Given the description of an element on the screen output the (x, y) to click on. 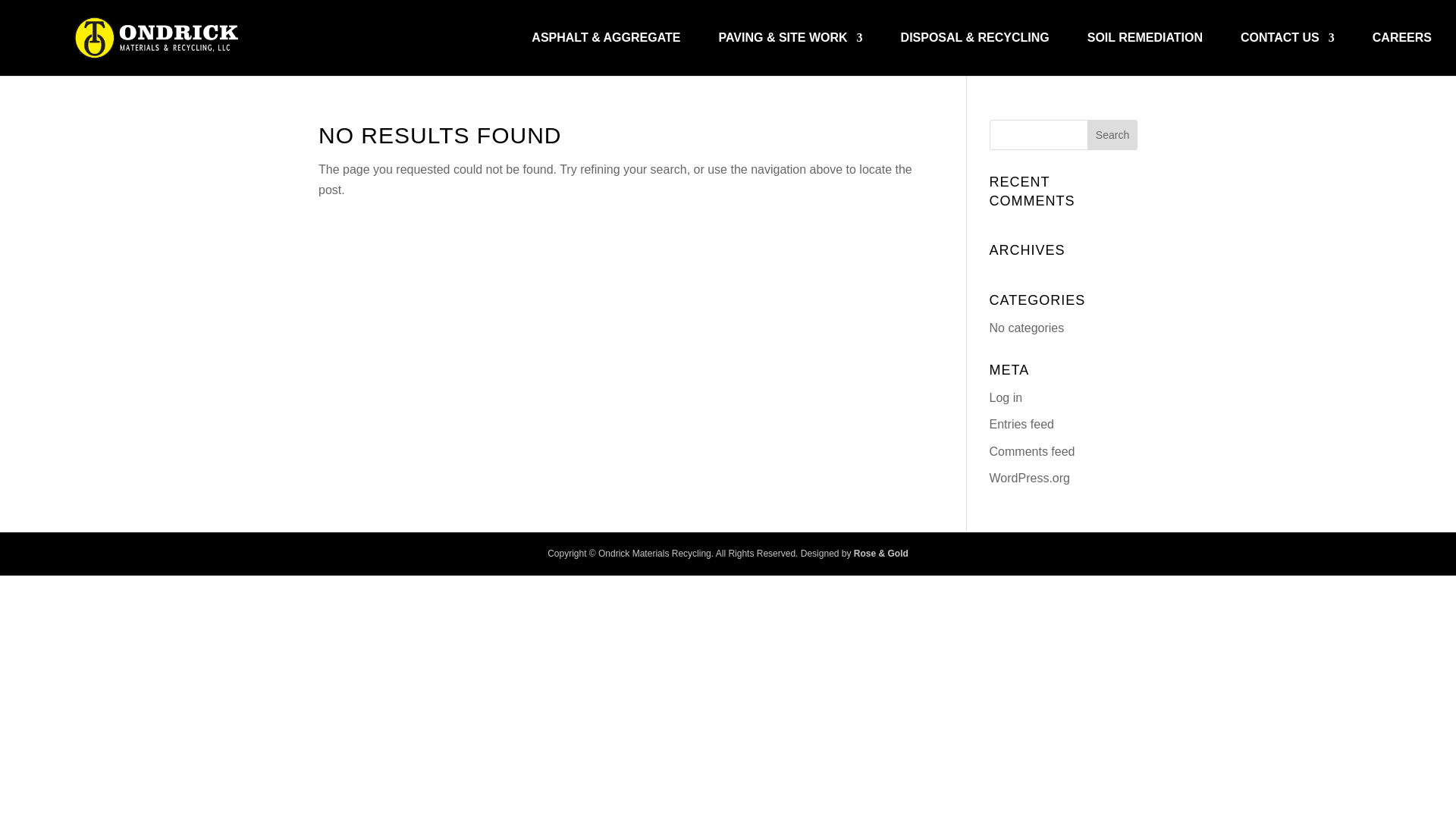
Search (1112, 134)
Search (1112, 134)
Comments feed (1032, 450)
CONTACT US (1287, 54)
WordPress.org (1030, 477)
CAREERS (1402, 54)
Entries feed (1022, 423)
SOIL REMEDIATION (1144, 54)
Log in (1006, 397)
